Given the description of an element on the screen output the (x, y) to click on. 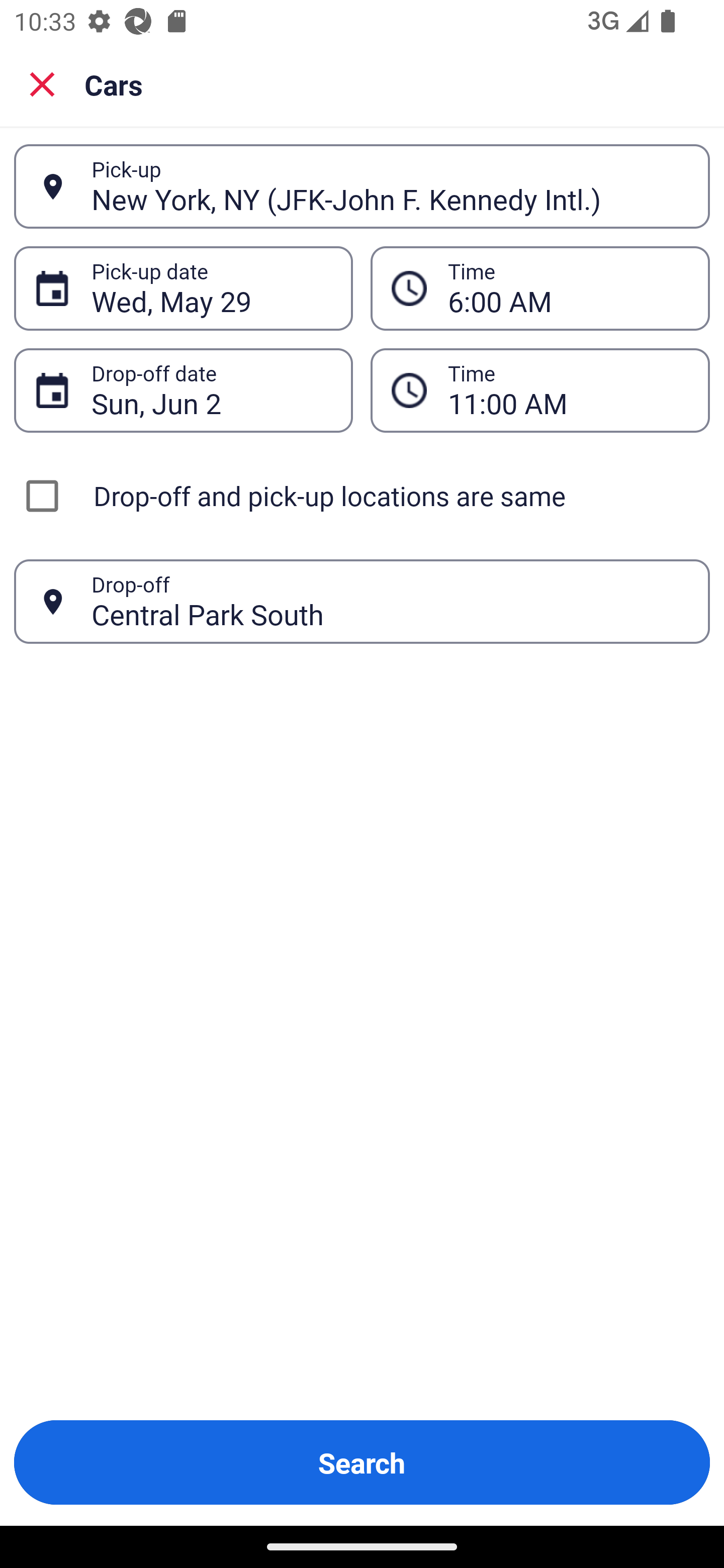
Close search screen (41, 83)
New York, NY (JFK-John F. Kennedy Intl.) Pick-up (361, 186)
New York, NY (JFK-John F. Kennedy Intl.) (389, 186)
Wed, May 29 Pick-up date (183, 288)
6:00 AM (540, 288)
Wed, May 29 (211, 288)
6:00 AM (568, 288)
Sun, Jun 2 Drop-off date (183, 390)
11:00 AM (540, 390)
Sun, Jun 2 (211, 390)
11:00 AM (568, 390)
Drop-off and pick-up locations are same (361, 495)
Central Park South Drop-off (361, 601)
Central Park South (389, 601)
Search Button Search (361, 1462)
